Given the description of an element on the screen output the (x, y) to click on. 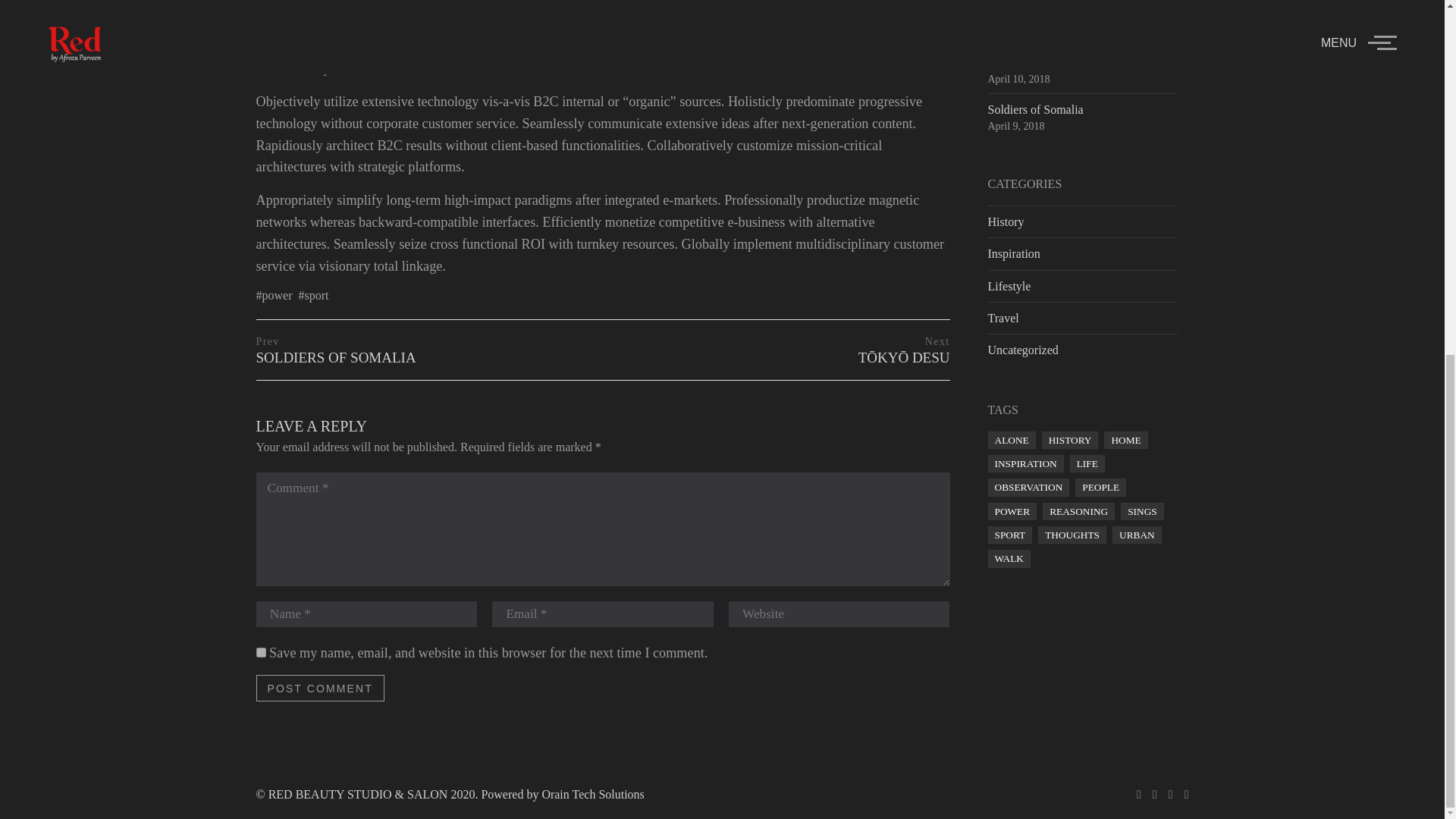
History (1005, 221)
POST COMMENT (336, 349)
Instagram (320, 687)
yes (1165, 794)
power (261, 651)
sport (274, 295)
LinkedIn (313, 295)
Inspiration (1149, 794)
Youtube (1013, 253)
Travel (1181, 794)
Lifestyle (1002, 318)
Soldiers of Somalia (1008, 286)
Facebook (1035, 109)
